Given the description of an element on the screen output the (x, y) to click on. 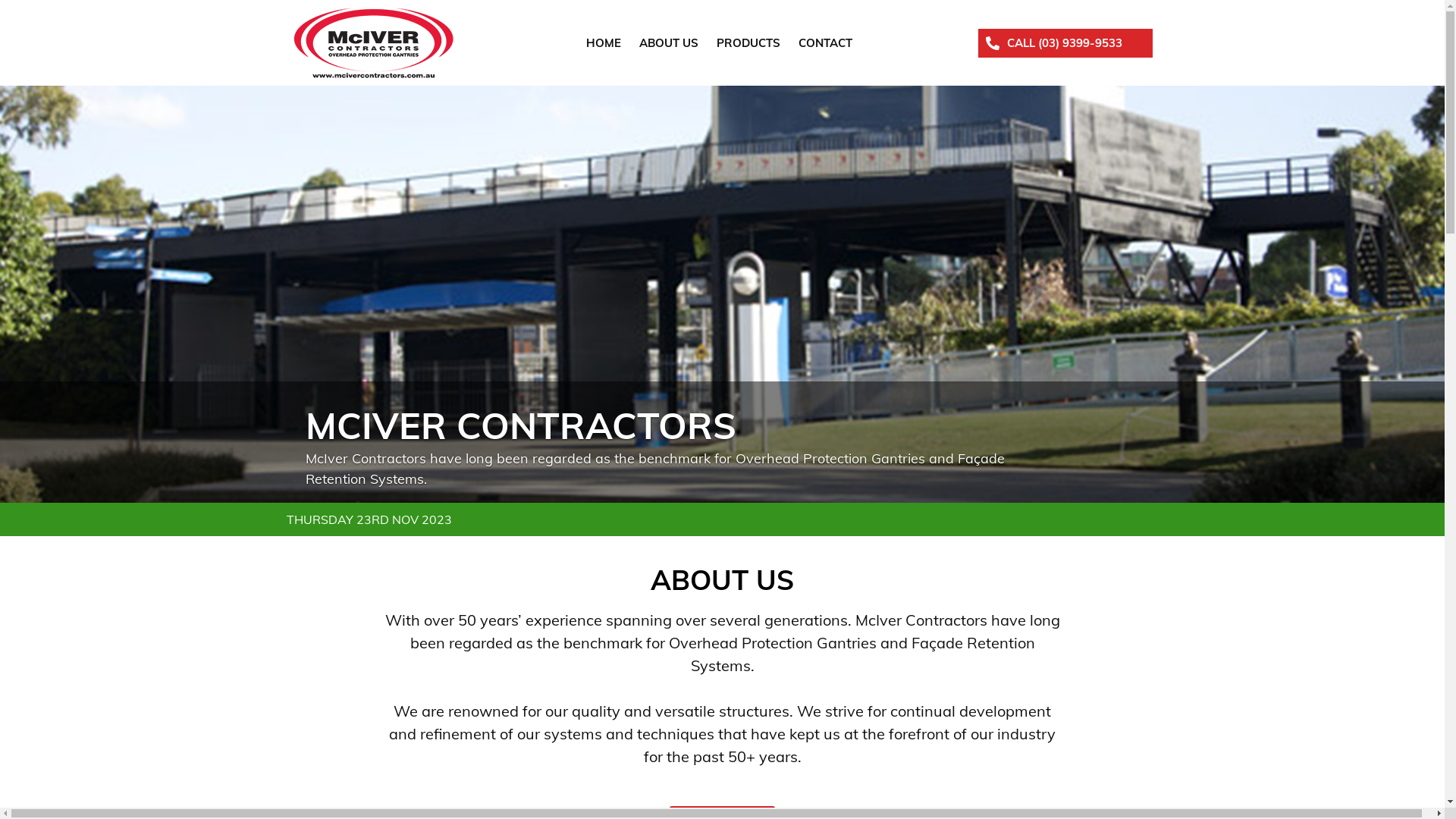
CALL (03) 9399-9533 Element type: text (1064, 41)
PRODUCTS Element type: text (748, 42)
CONTACT Element type: text (825, 42)
HOME Element type: text (603, 42)
ABOUT US Element type: text (668, 42)
